Given the description of an element on the screen output the (x, y) to click on. 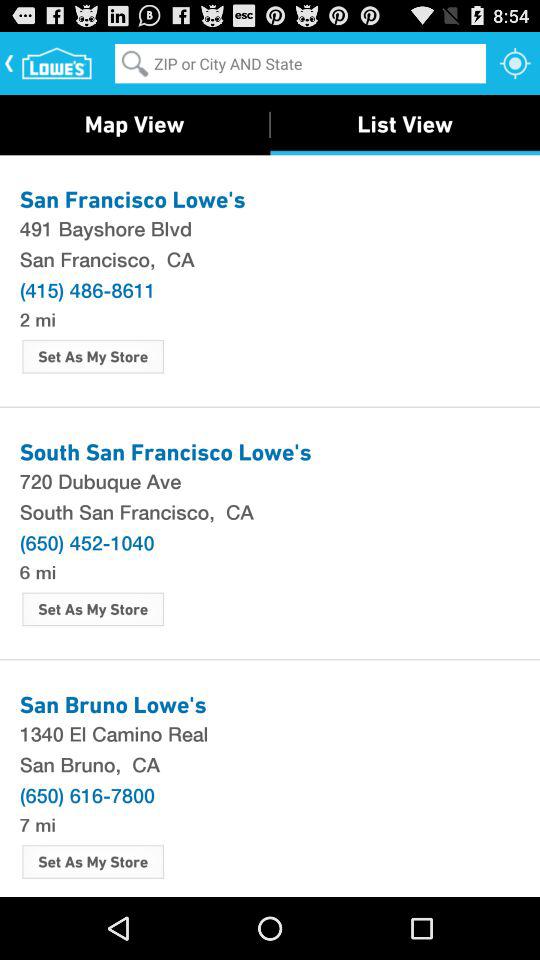
open item above san francisco,  ca icon (269, 227)
